Given the description of an element on the screen output the (x, y) to click on. 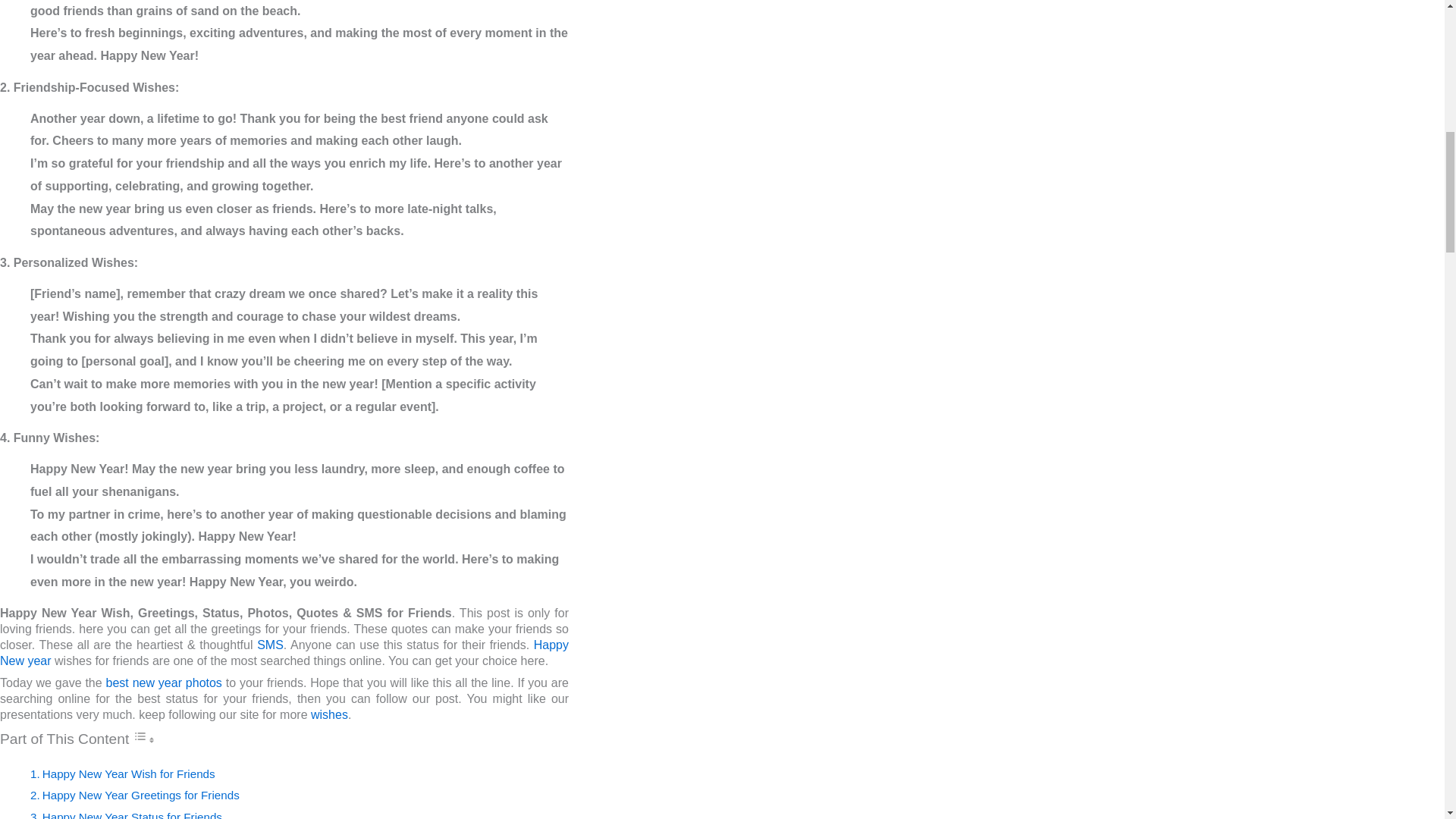
wishes (329, 714)
Happy New year (284, 652)
SMS (270, 644)
Happy New Year Wish for Friends (128, 773)
best new year photos (164, 682)
Happy New Year Greetings for Friends (141, 794)
Happy New Year Wish for Friends (128, 773)
Happy New Year Status for Friends (132, 814)
Happy New Year Greetings for Friends (141, 794)
Happy New Year Status for Friends (132, 814)
